Given the description of an element on the screen output the (x, y) to click on. 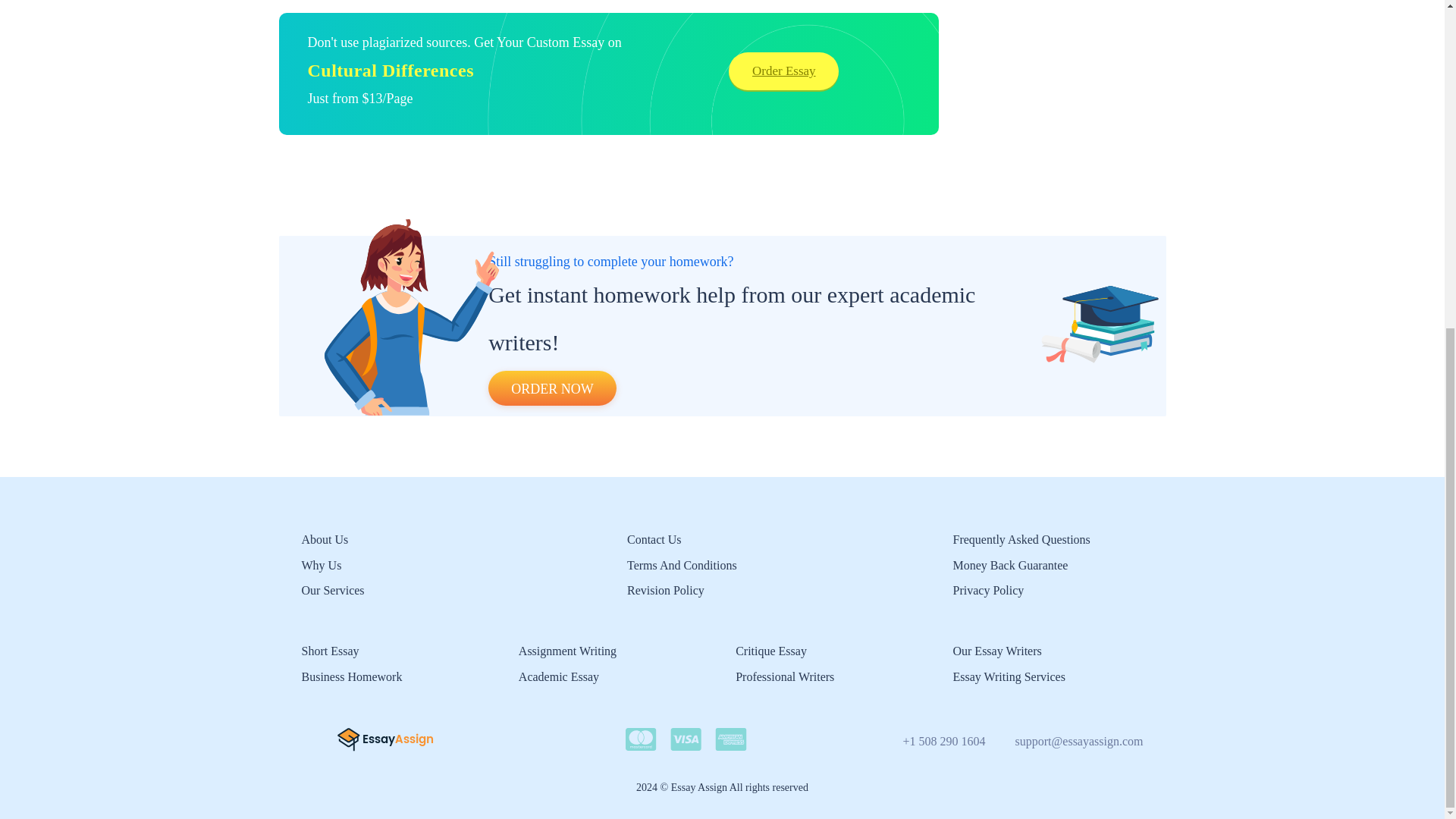
Revision Policy (665, 590)
Terms And Conditions (681, 564)
About Us (325, 539)
Our Services (333, 590)
ORDER NOW (551, 388)
Contact Us (654, 539)
Order Essay (783, 71)
Why Us (321, 564)
